Given the description of an element on the screen output the (x, y) to click on. 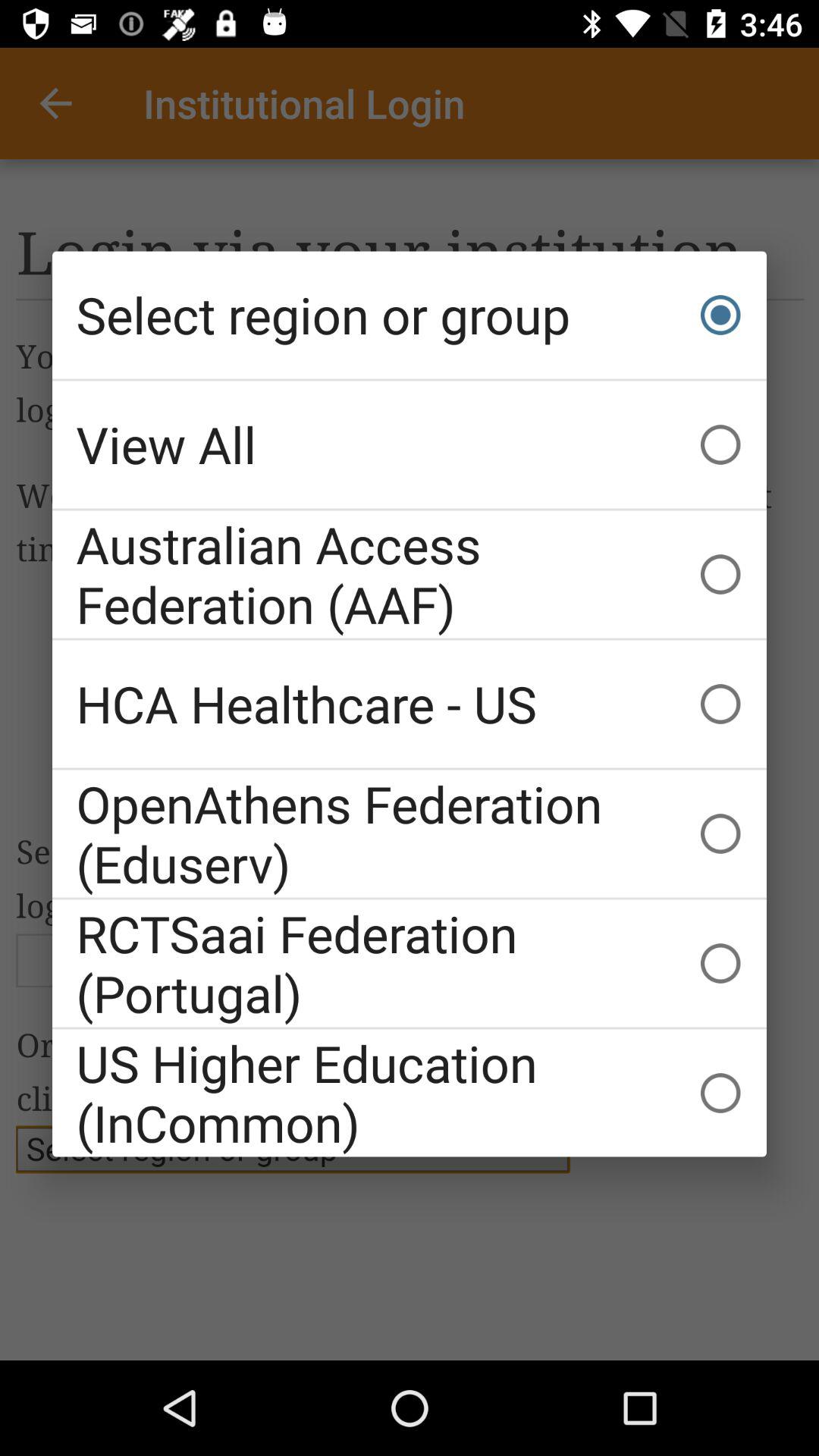
scroll until openathens federation (eduserv) icon (409, 833)
